Given the description of an element on the screen output the (x, y) to click on. 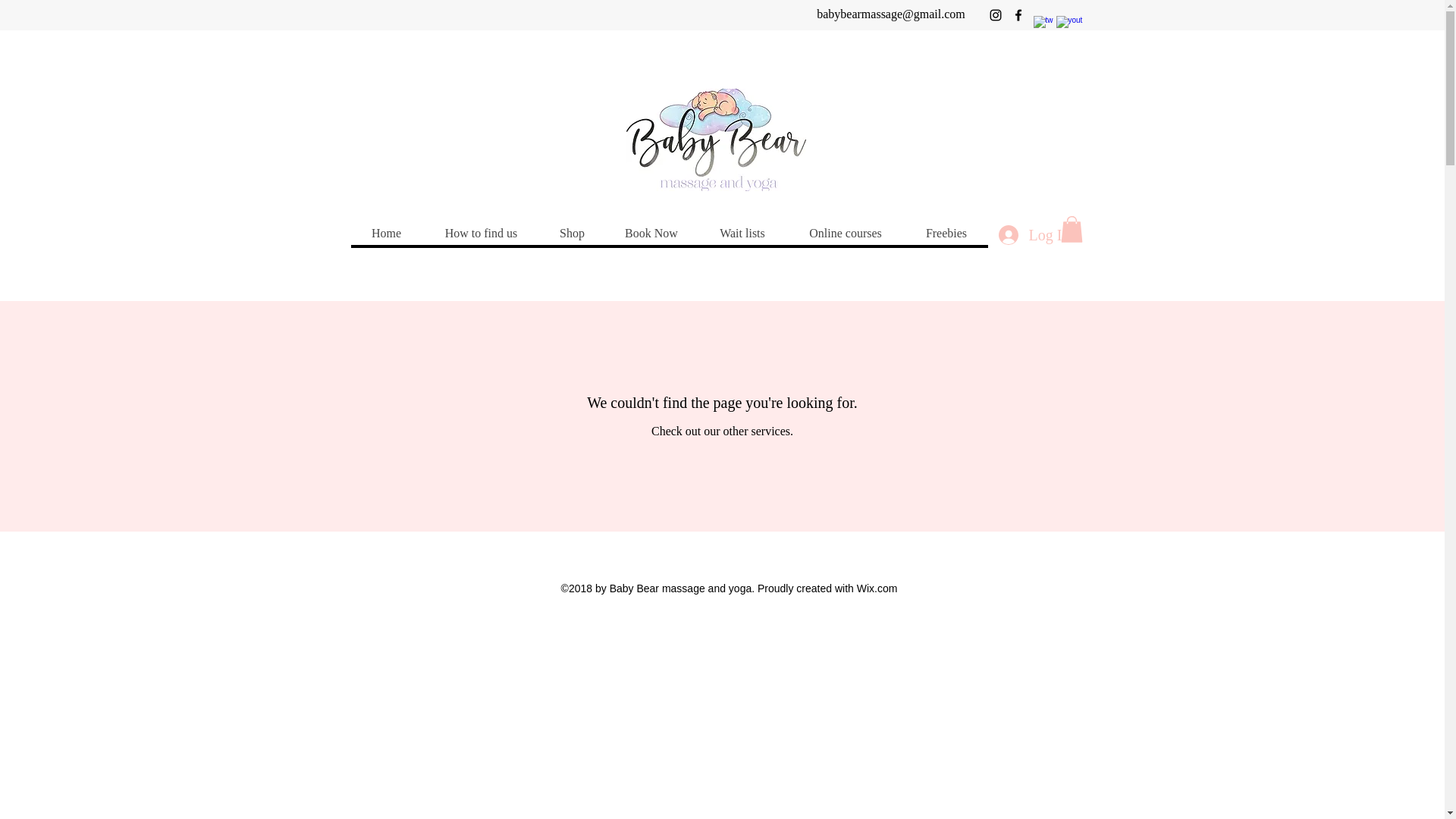
Home (386, 232)
Log In (1032, 234)
Shop (572, 232)
How to find us (480, 232)
Book Now (650, 232)
Wait lists (741, 232)
